Given the description of an element on the screen output the (x, y) to click on. 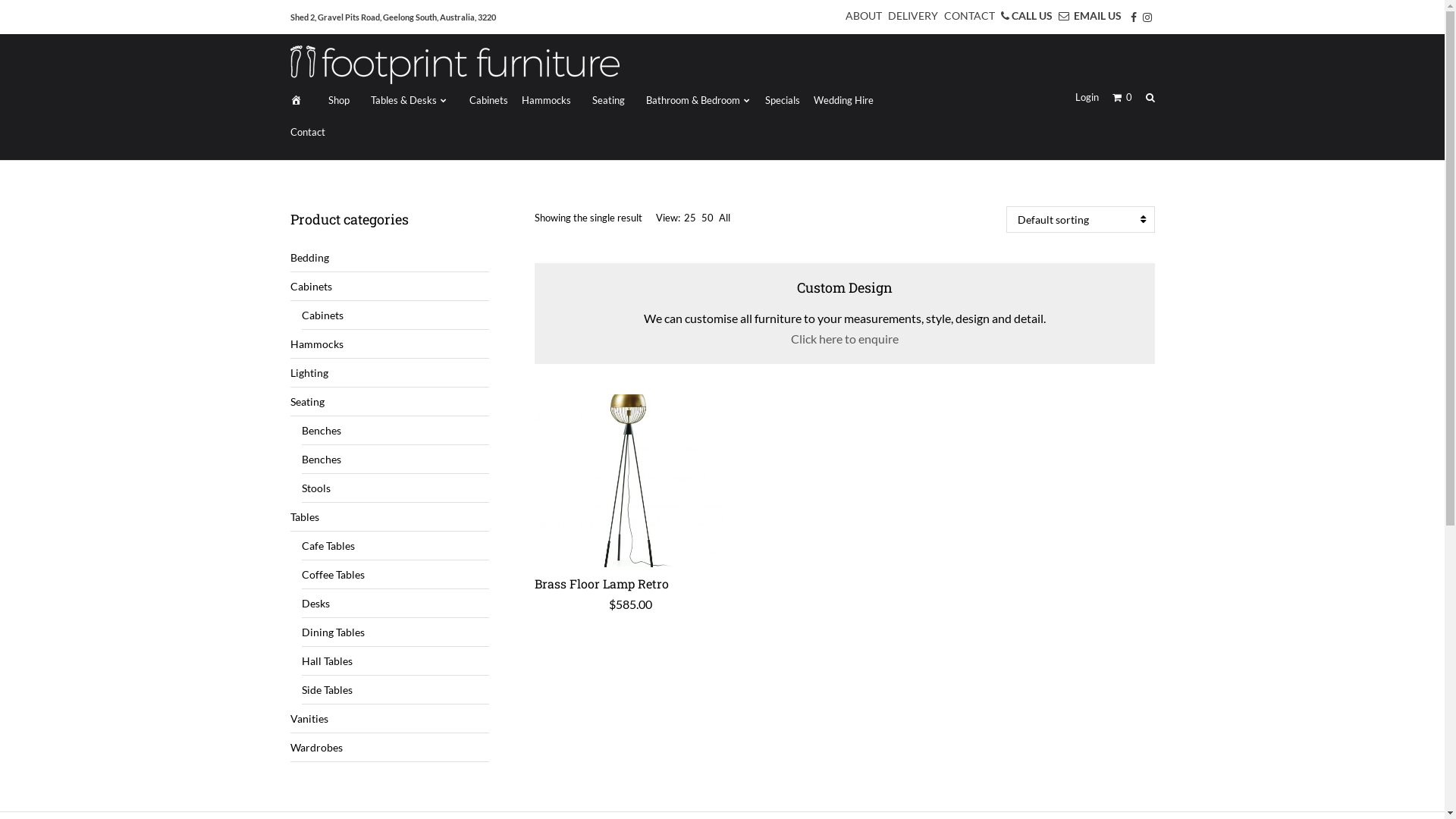
Hammocks Element type: text (546, 100)
Wedding Hire Element type: text (843, 100)
Benches Element type: text (395, 459)
Tables & Desks Element type: text (405, 100)
0 Element type: text (1121, 97)
Specials Element type: text (782, 100)
Contact Element type: text (350, 776)
Dining Tables Element type: text (395, 632)
Bathroom & Bedroom Element type: text (694, 100)
Shop Element type: text (334, 100)
Contact Element type: text (306, 131)
  Element type: text (298, 100)
Lighting Element type: text (389, 372)
Hall Tables Element type: text (395, 660)
Seating Element type: text (389, 401)
Bedding Element type: text (389, 257)
Click here to enquire Element type: text (844, 338)
Desks Element type: text (395, 603)
Brass Floor Lamp Retro Element type: text (601, 583)
CALL US Element type: text (1024, 15)
About Element type: text (302, 776)
Cafe Tables Element type: text (395, 545)
50 Element type: text (707, 217)
ABOUT Element type: text (860, 15)
CONTACT Element type: text (966, 15)
Cabinets Element type: text (484, 100)
25 Element type: text (690, 217)
Seating Element type: text (604, 100)
Cabinets Element type: text (395, 315)
Coffee Tables Element type: text (395, 574)
DELIVERY Element type: text (909, 15)
Benches Element type: text (395, 430)
Hammocks Element type: text (389, 343)
All Element type: text (724, 217)
Wardrobes Element type: text (389, 747)
Tables Element type: text (389, 516)
Vanities Element type: text (389, 718)
  EMAIL US Element type: text (1087, 15)
Side Tables Element type: text (395, 689)
Login Element type: text (1086, 97)
Stools Element type: text (395, 487)
Search Element type: text (1149, 97)
Cabinets Element type: text (389, 286)
